Given the description of an element on the screen output the (x, y) to click on. 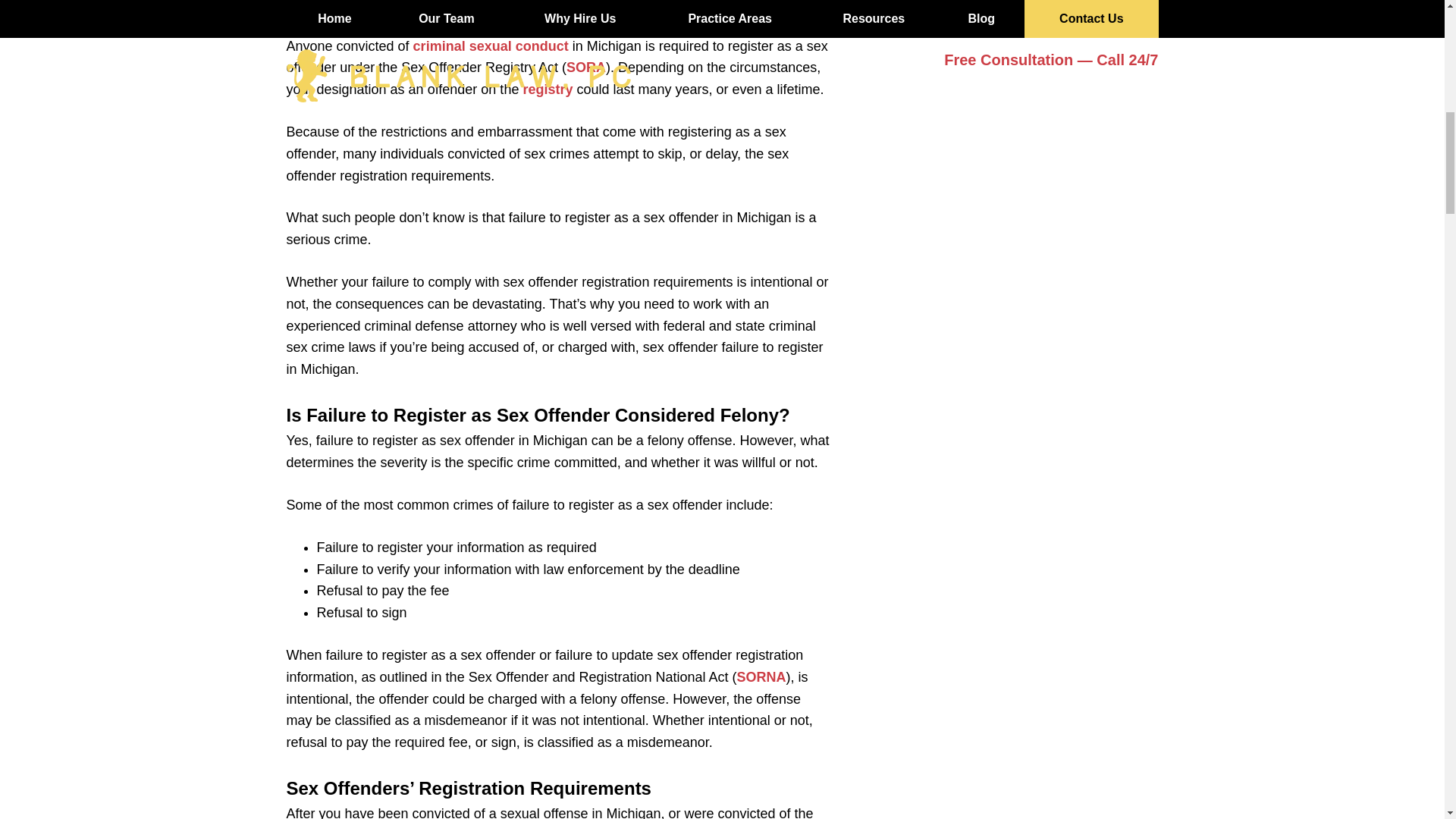
SORA (585, 67)
registry (547, 89)
SORNA (761, 676)
criminal sexual conduct (491, 46)
